Given the description of an element on the screen output the (x, y) to click on. 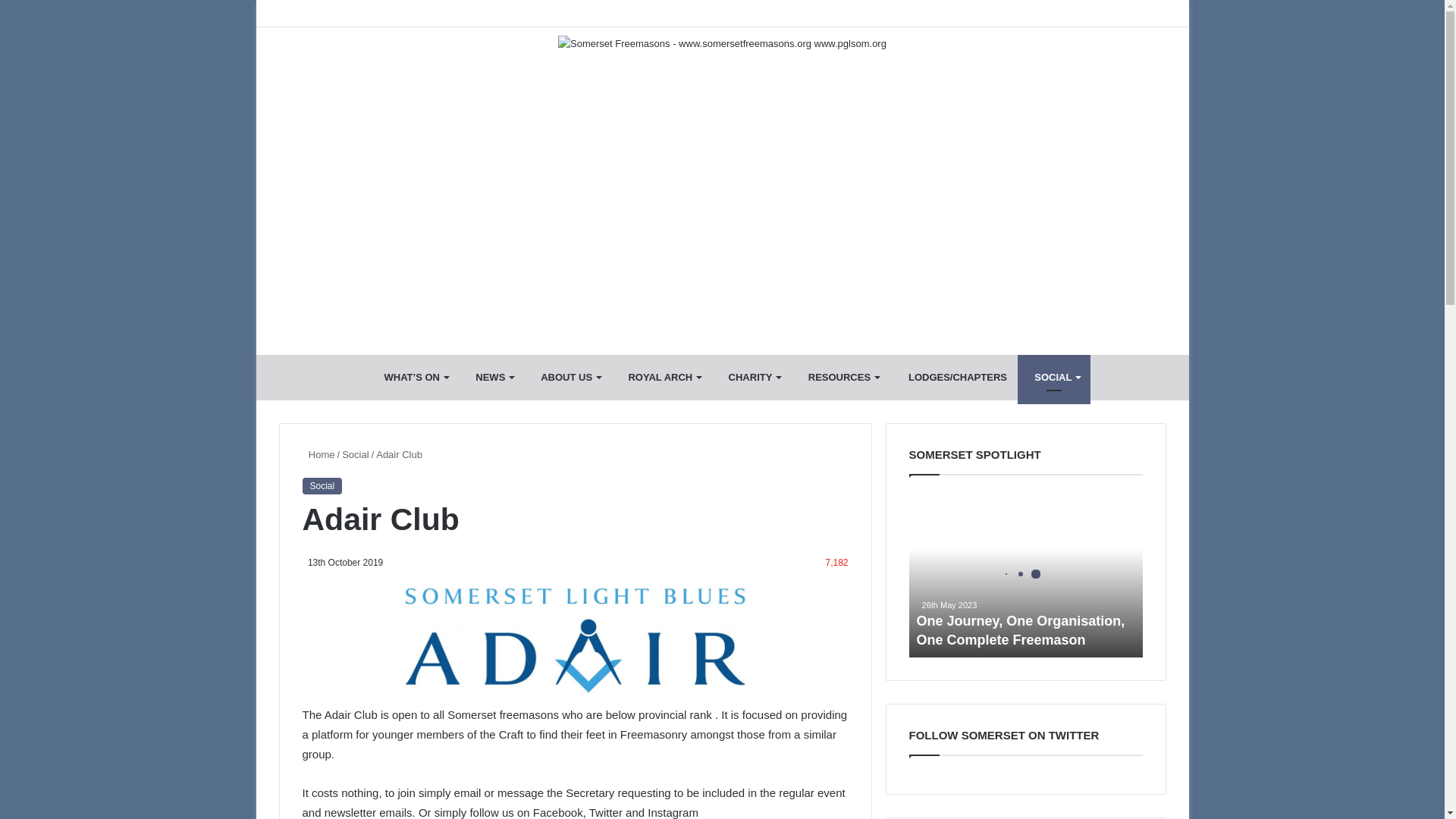
Freemasonry (567, 377)
ABOUT US (567, 377)
whats on (412, 377)
Charity (750, 377)
Find a Lodge by Name (953, 377)
NEWS (491, 377)
Resources (839, 377)
news (491, 377)
